Given the description of an element on the screen output the (x, y) to click on. 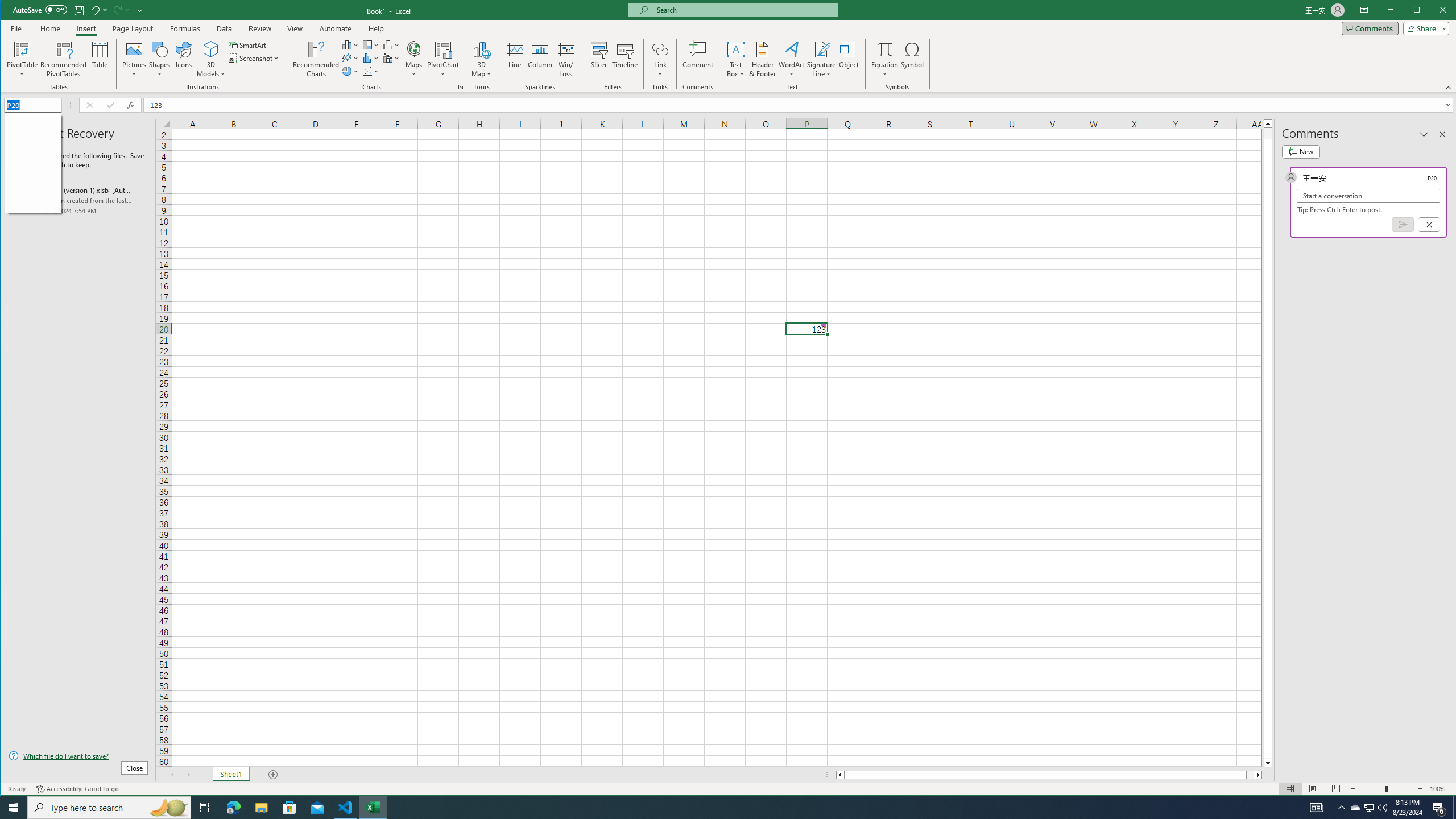
Insert Scatter (X, Y) or Bubble Chart (371, 70)
Equation (884, 59)
Comment (697, 59)
